Given the description of an element on the screen output the (x, y) to click on. 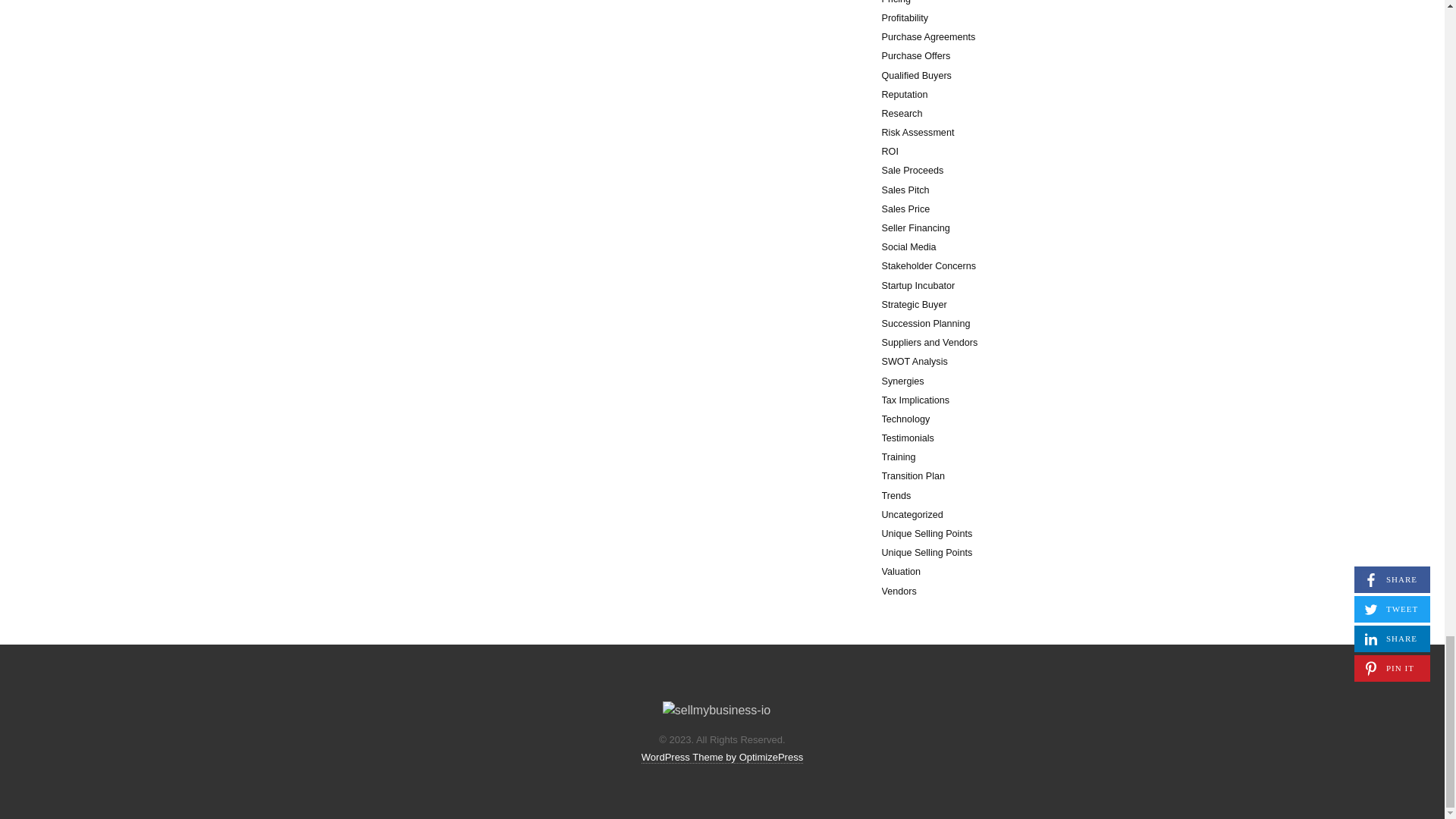
sellmybusiness-io (716, 710)
